Given the description of an element on the screen output the (x, y) to click on. 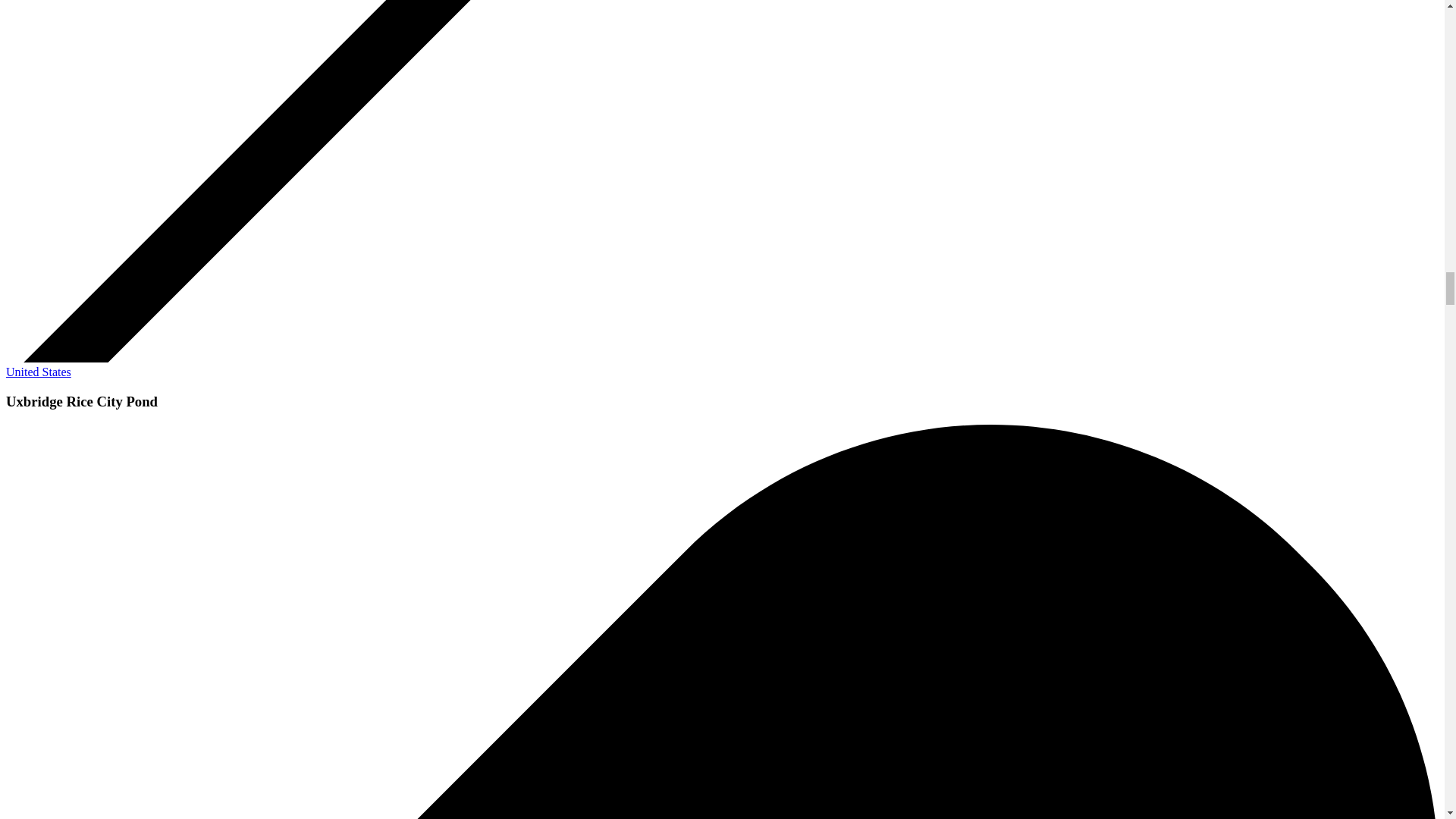
United States (38, 371)
